Given the description of an element on the screen output the (x, y) to click on. 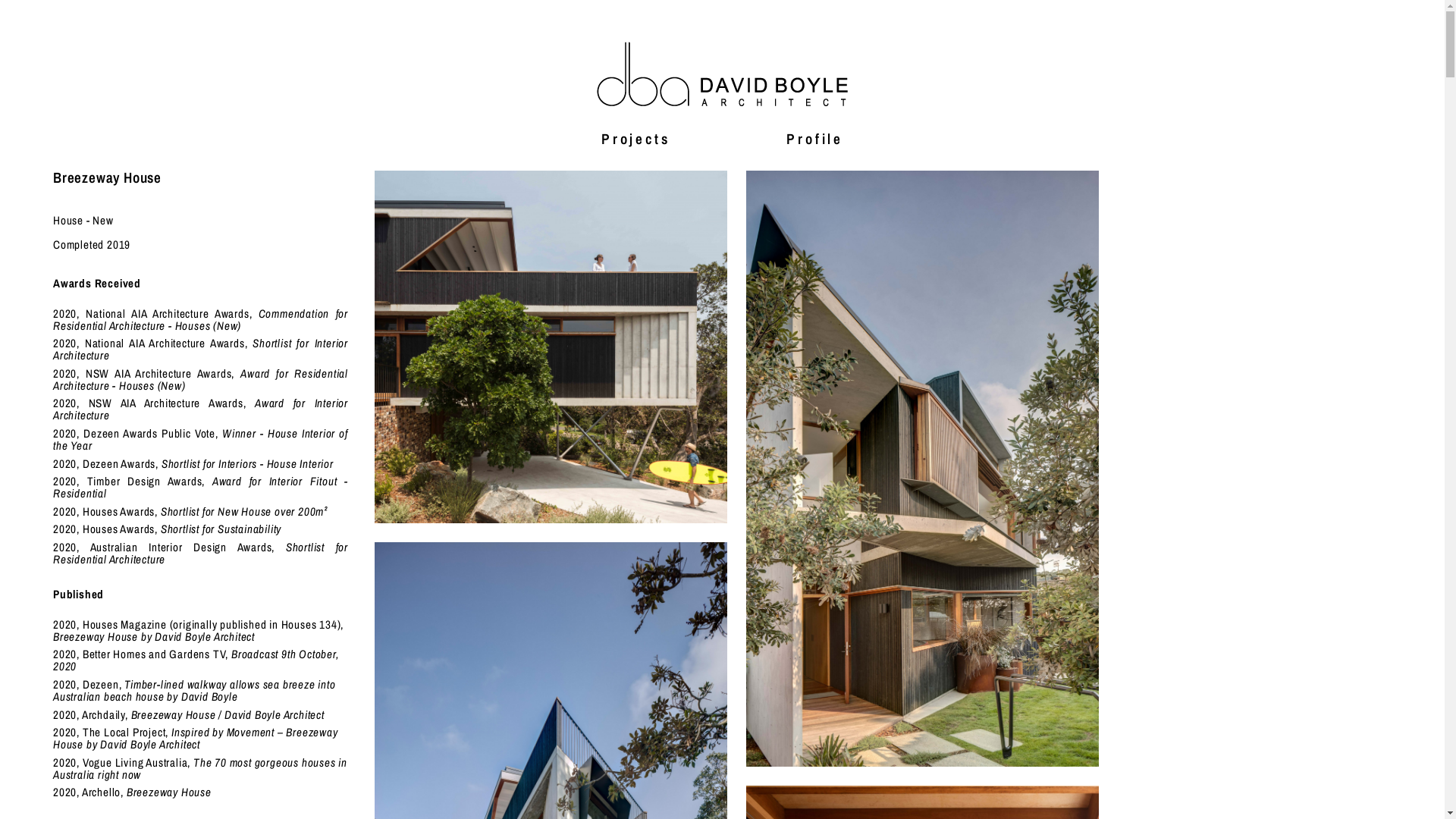
Breezeway House Element type: hover (922, 468)
2020, Archdaily, Breezeway House / David Boyle Architect Element type: text (188, 714)
Projects Element type: text (635, 137)
Profile Element type: text (814, 137)
House - New Element type: text (83, 220)
2020, Archello, Breezeway House Element type: text (132, 792)
Breezeway House Element type: hover (550, 346)
